Given the description of an element on the screen output the (x, y) to click on. 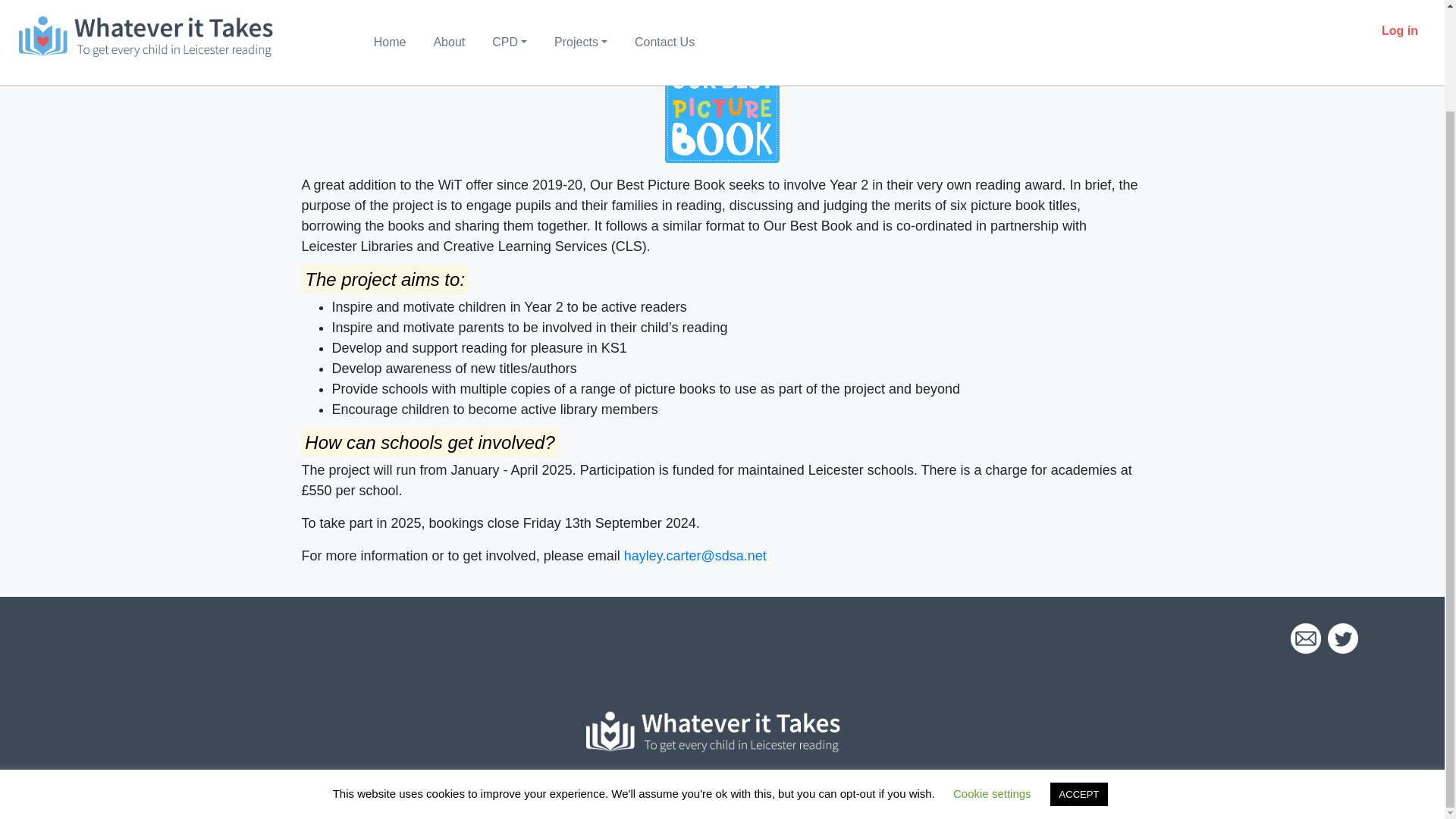
Cookie settings (991, 675)
SDSA (884, 795)
ACCEPT (1078, 676)
